Given the description of an element on the screen output the (x, y) to click on. 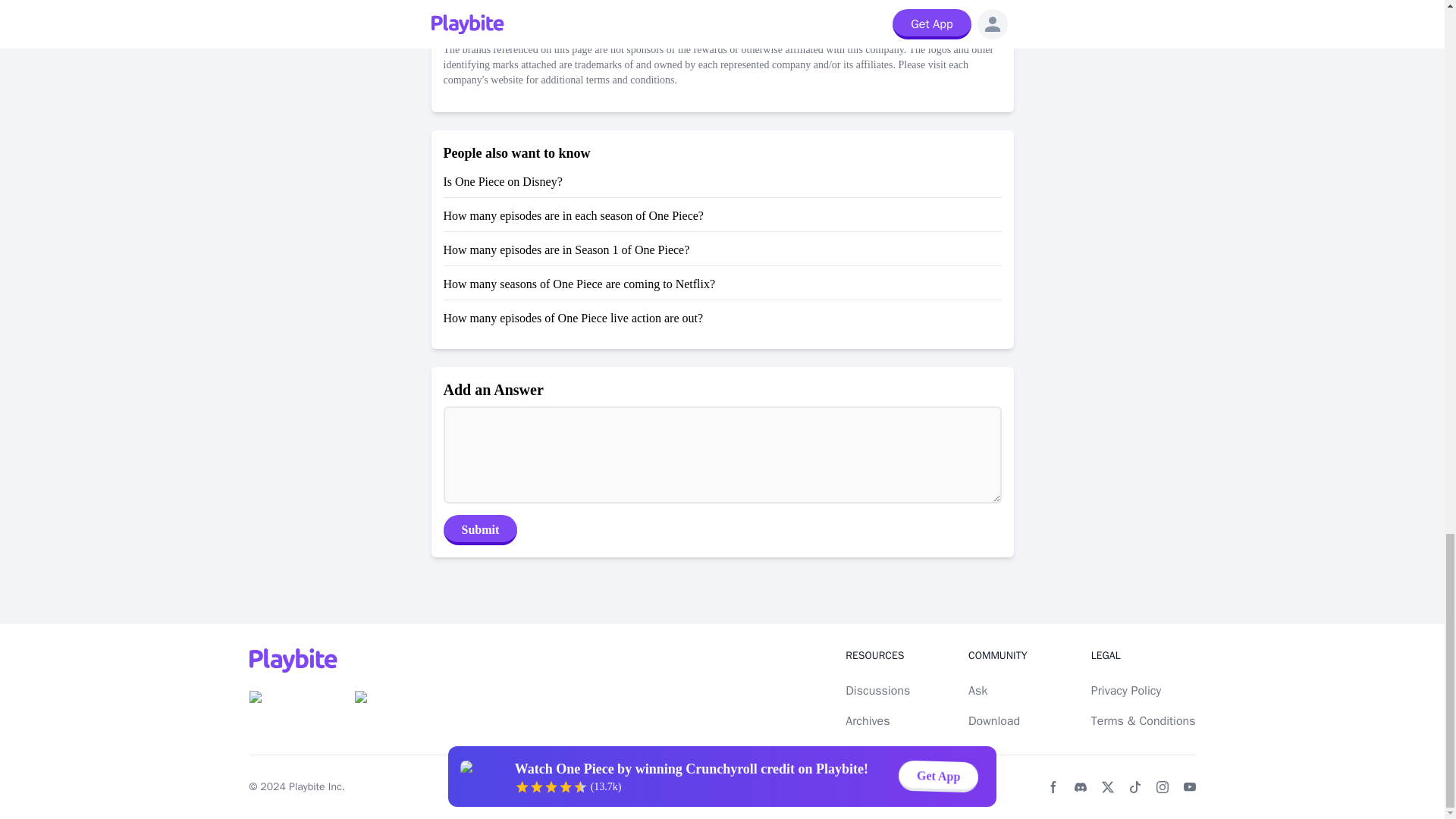
How many episodes are in each season of One Piece? (572, 215)
Discussions (877, 690)
Playbite Inc (315, 786)
Is One Piece on Disney? (502, 181)
Discord community (1080, 787)
Instagram page (1161, 787)
Ask (977, 690)
Submit (479, 530)
Download (994, 720)
How many episodes are in Season 1 of One Piece? (565, 249)
